Given the description of an element on the screen output the (x, y) to click on. 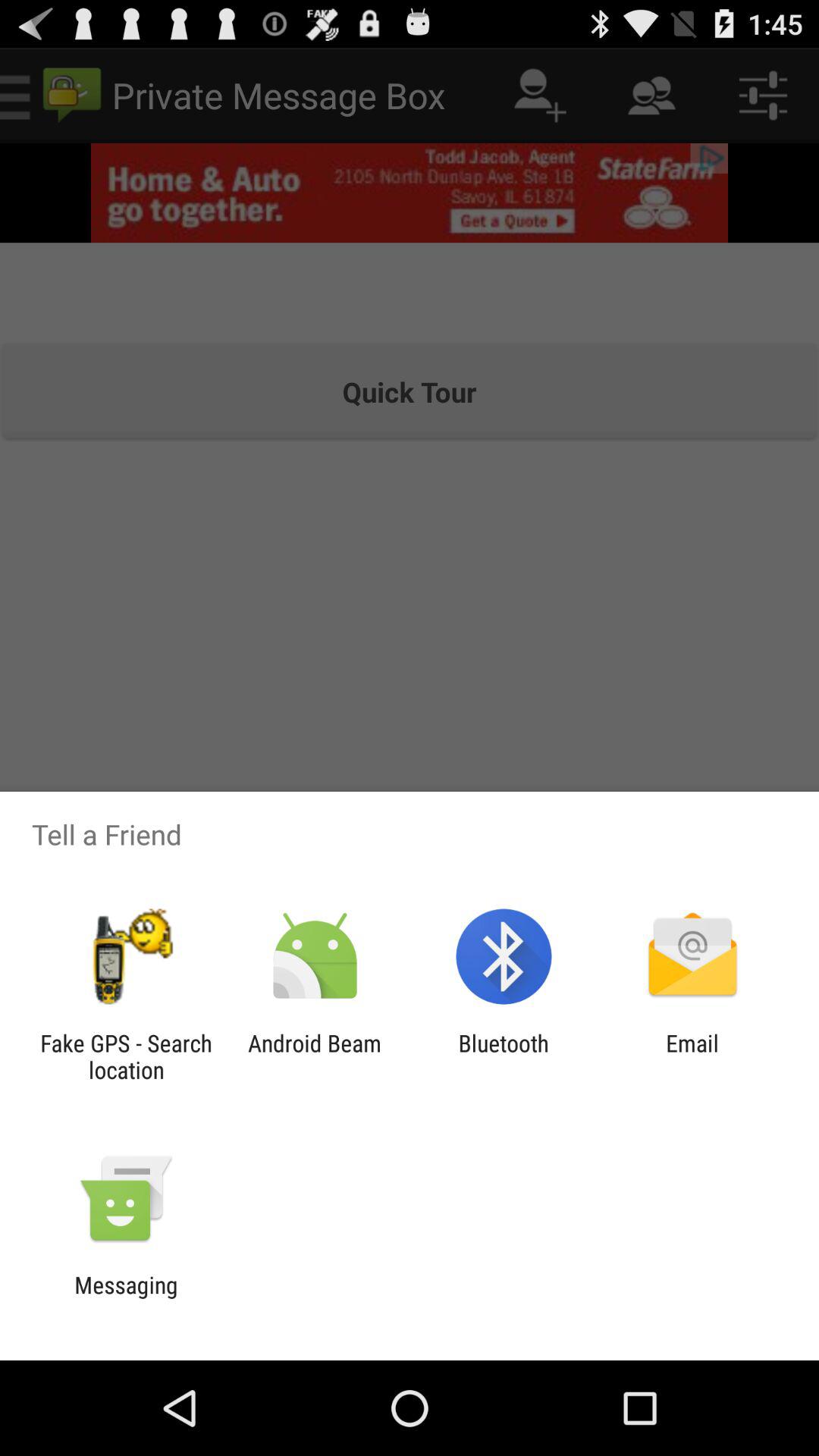
turn on android beam icon (314, 1056)
